Given the description of an element on the screen output the (x, y) to click on. 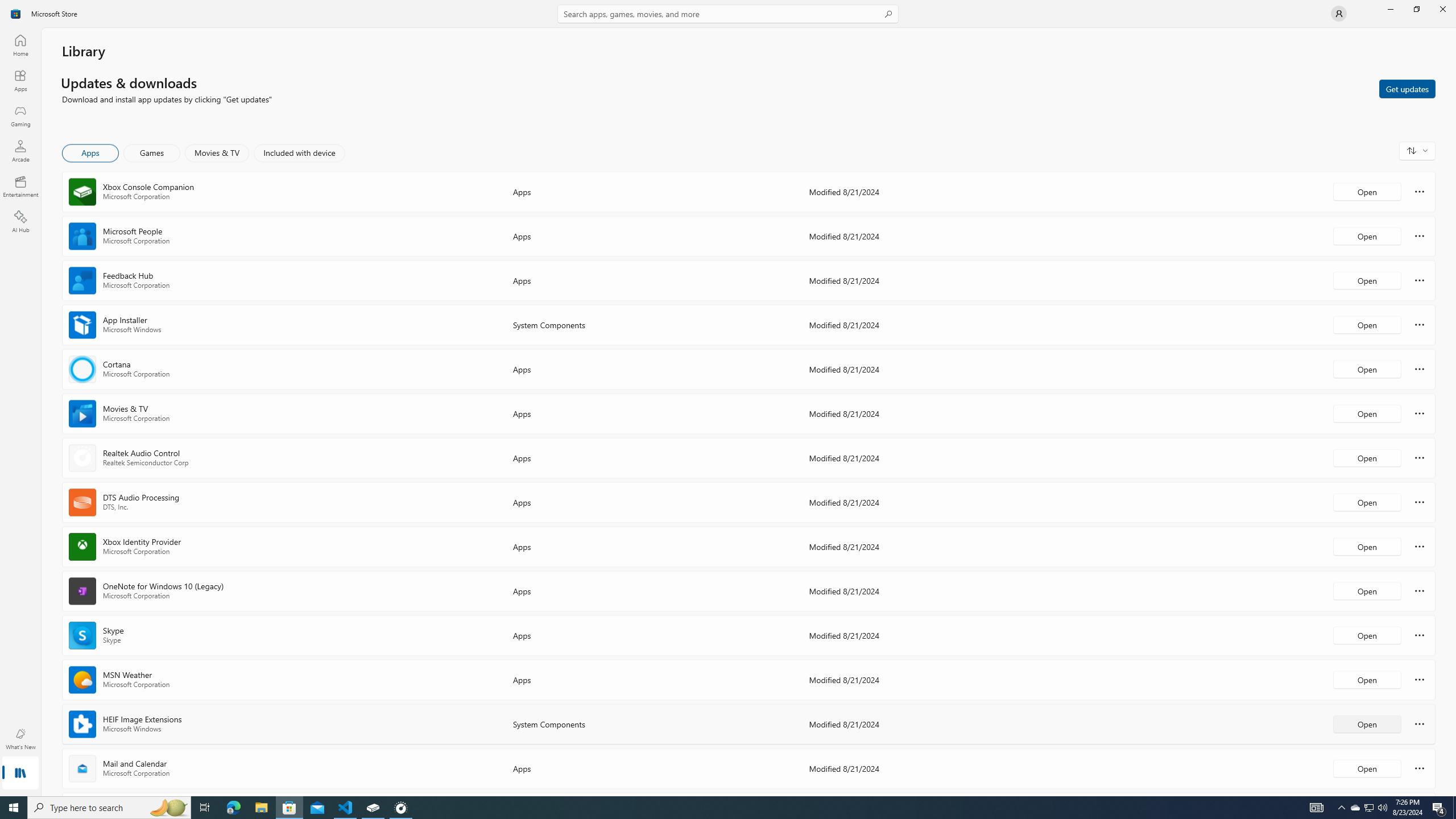
More options (1419, 768)
AI Hub (20, 221)
Open (1366, 768)
User profile (1338, 13)
Home (20, 45)
Get updates (1406, 88)
Minimize Microsoft Store (1390, 9)
Included with device (299, 153)
